Given the description of an element on the screen output the (x, y) to click on. 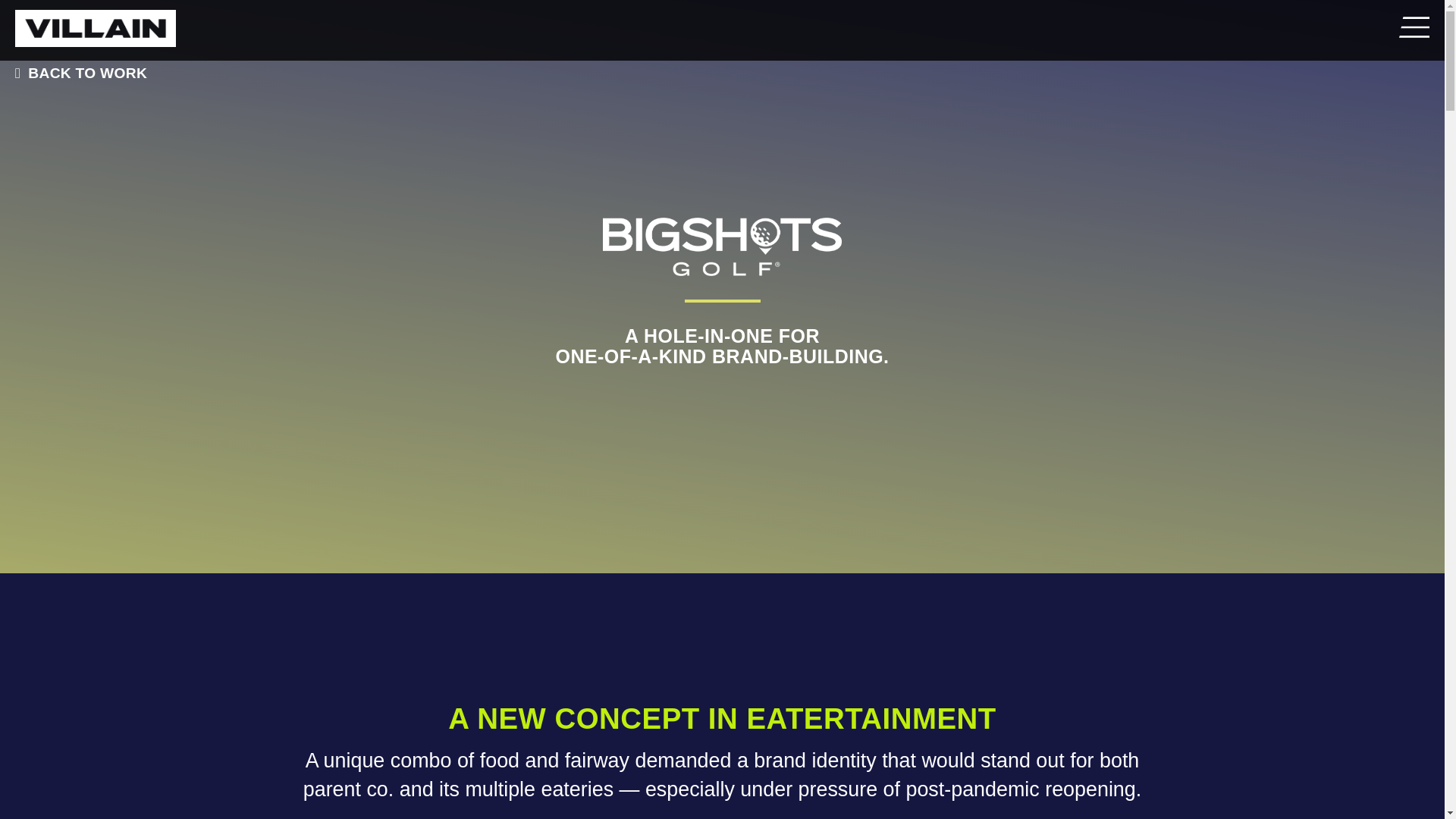
BACK TO WORK (77, 73)
